Given the description of an element on the screen output the (x, y) to click on. 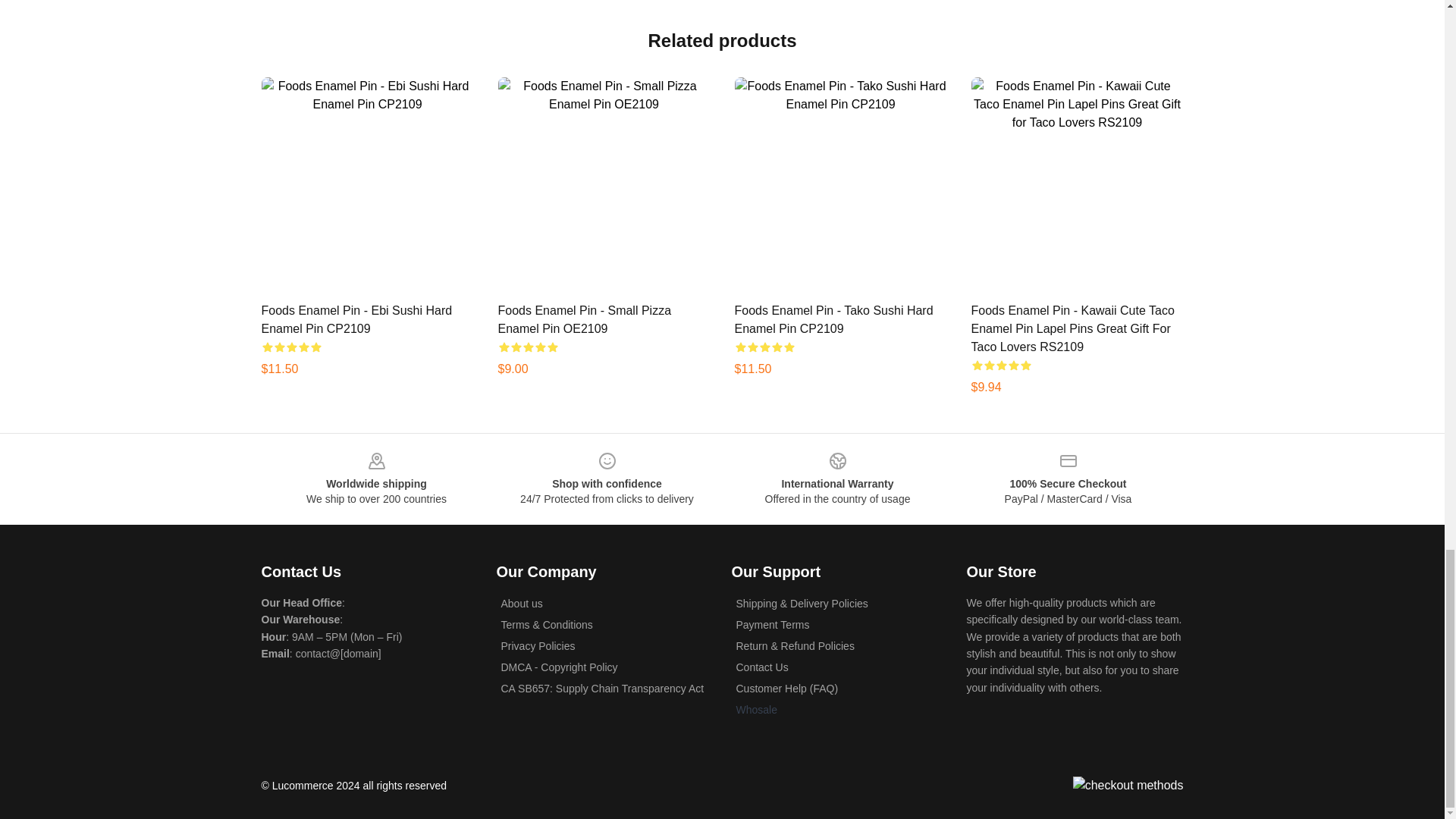
Foods Enamel Pin - Tako Sushi Hard Enamel Pin CP2109 (833, 318)
Foods Enamel Pin - Small Pizza Enamel Pin OE2109 (584, 318)
Foods Enamel Pin - Ebi Sushi Hard Enamel Pin CP2109 (355, 318)
